Given the description of an element on the screen output the (x, y) to click on. 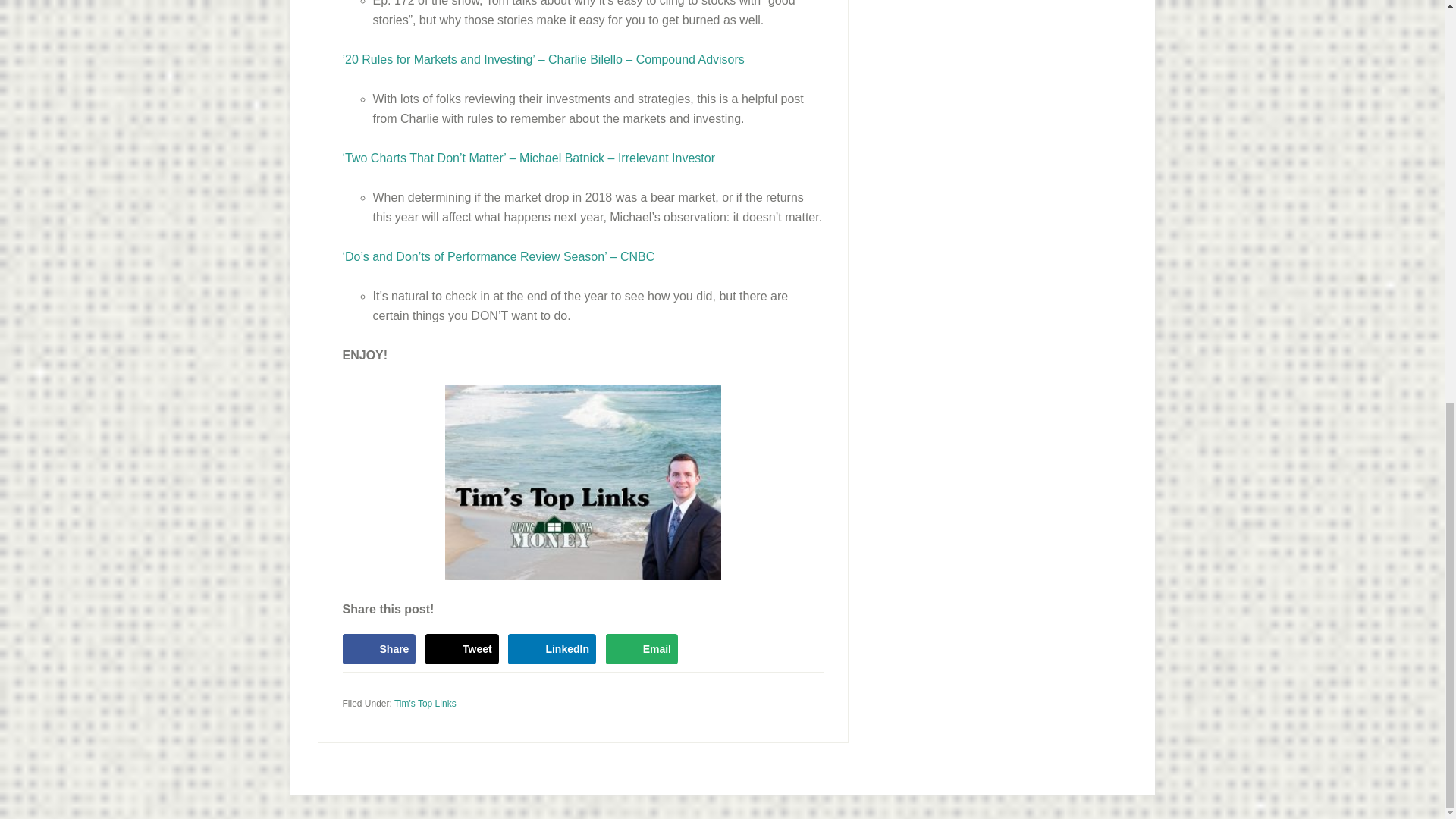
Tim's Top Links (425, 703)
Tweet (462, 648)
LinkedIn (551, 648)
Email (641, 648)
Share on X (462, 648)
Share (379, 648)
Share on LinkedIn (551, 648)
Share on Facebook (379, 648)
Send over email (641, 648)
